Given the description of an element on the screen output the (x, y) to click on. 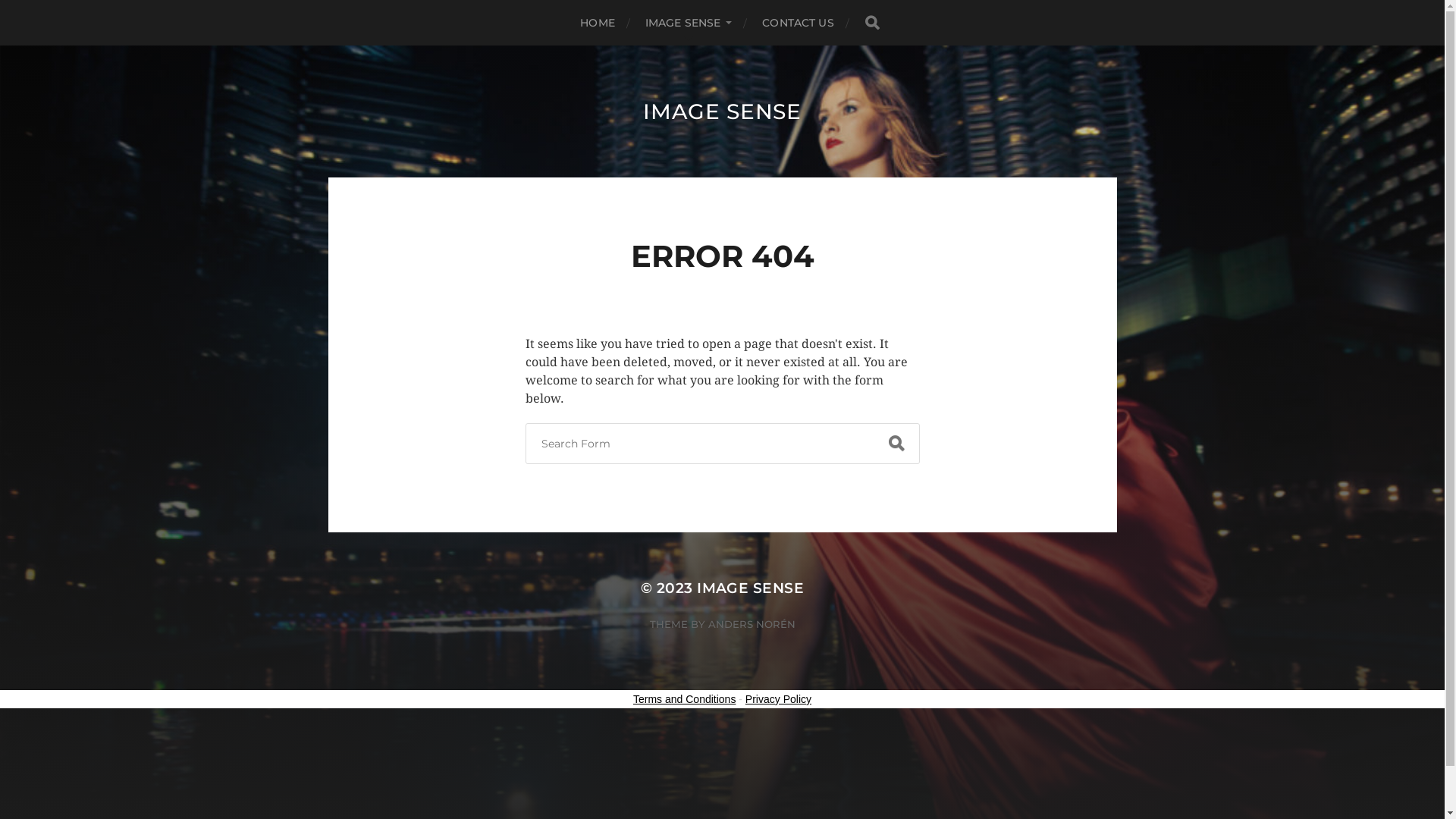
IMAGE SENSE Element type: text (749, 587)
Terms and Conditions Element type: text (684, 699)
HOME Element type: text (597, 22)
IMAGE SENSE Element type: text (688, 22)
IMAGE SENSE Element type: text (722, 111)
Privacy Policy Element type: text (778, 699)
CONTACT US Element type: text (797, 22)
